Given the description of an element on the screen output the (x, y) to click on. 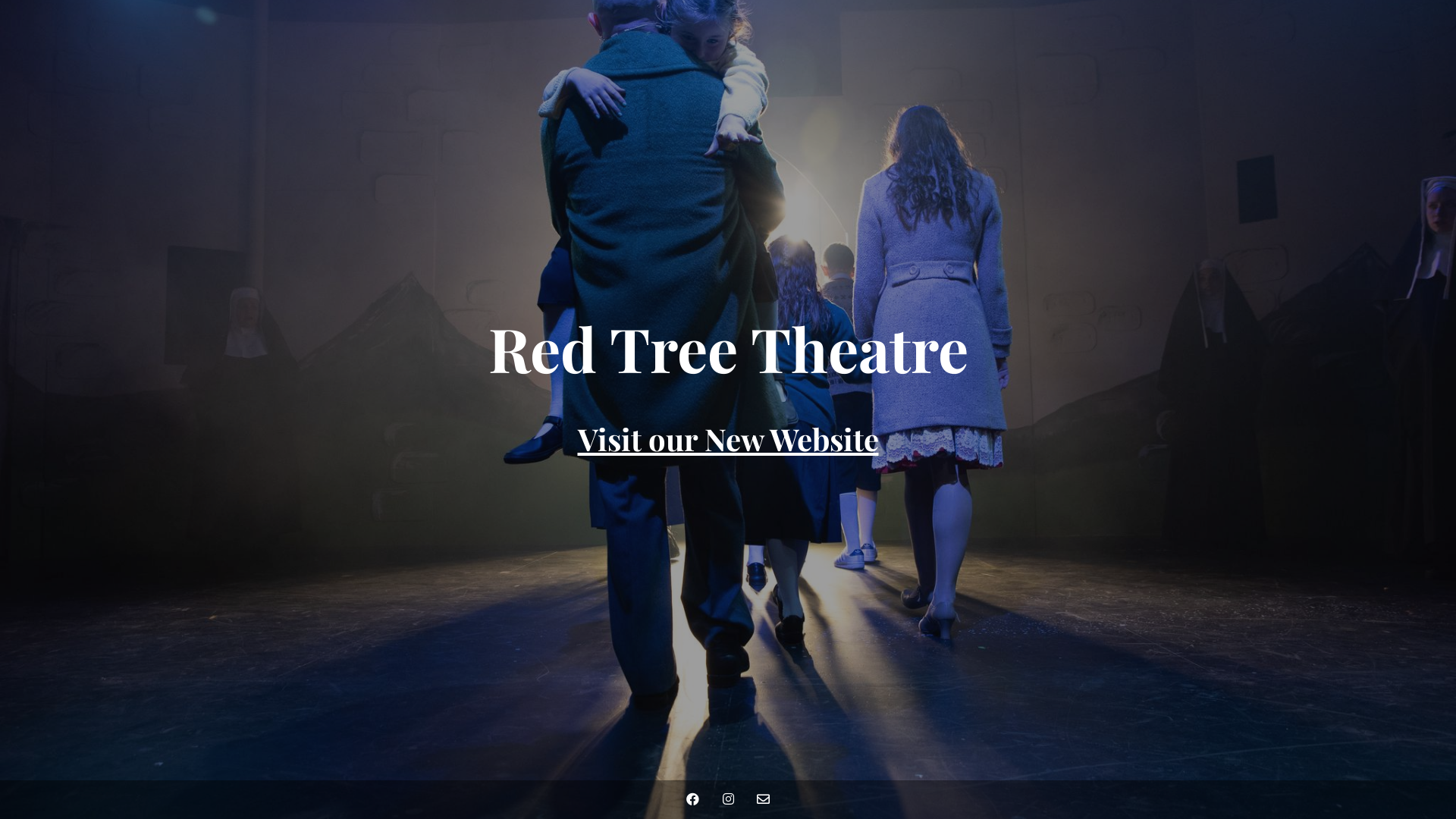
Red Tree Theatre Element type: text (728, 360)
Visit our New Website Element type: text (727, 438)
